Given the description of an element on the screen output the (x, y) to click on. 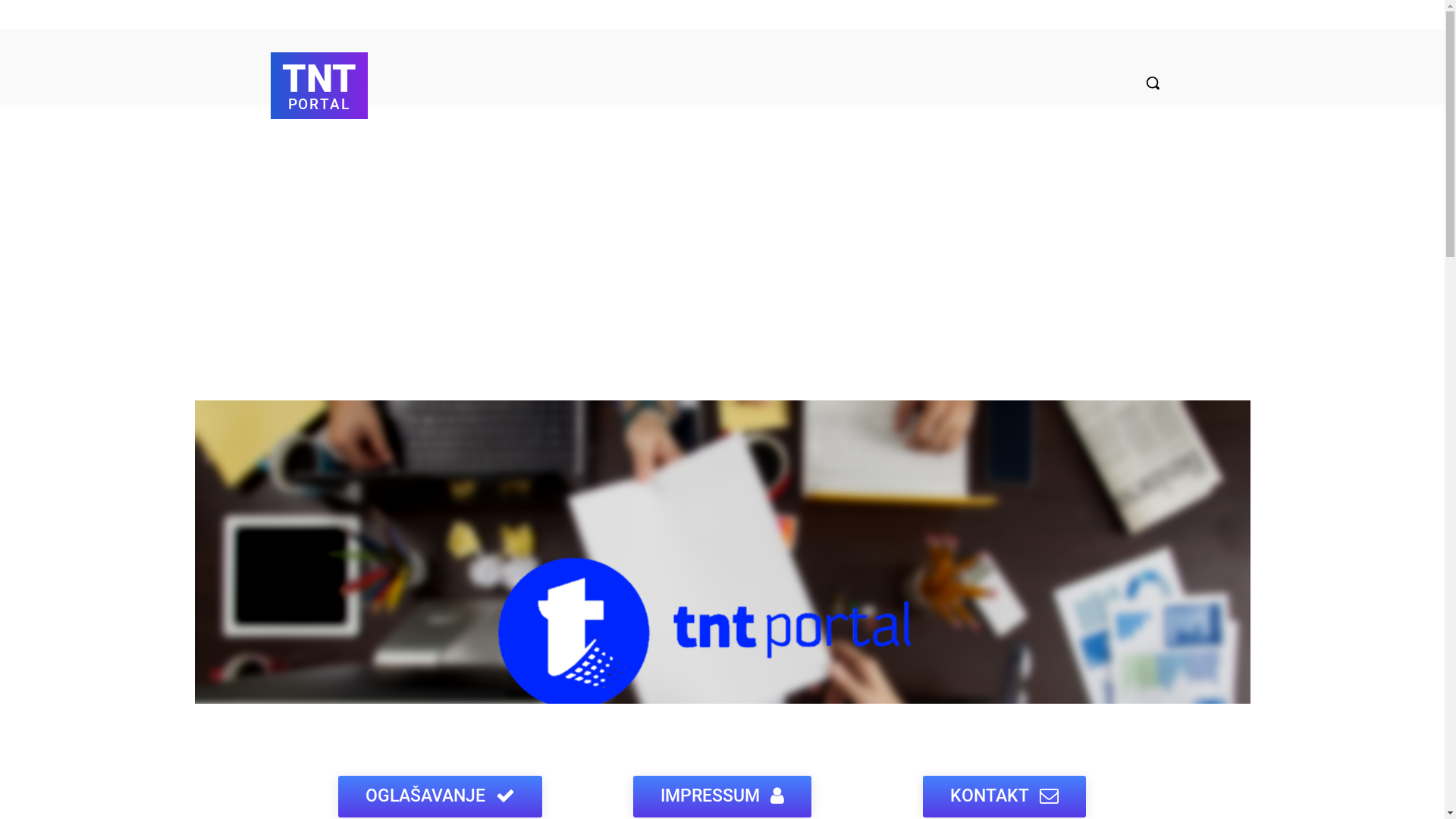
Advertisement Element type: hover (721, 256)
KONTAKT Element type: text (1003, 796)
TNT
PORTAL Element type: text (319, 83)
IMPRESSUM Element type: text (722, 796)
